Given the description of an element on the screen output the (x, y) to click on. 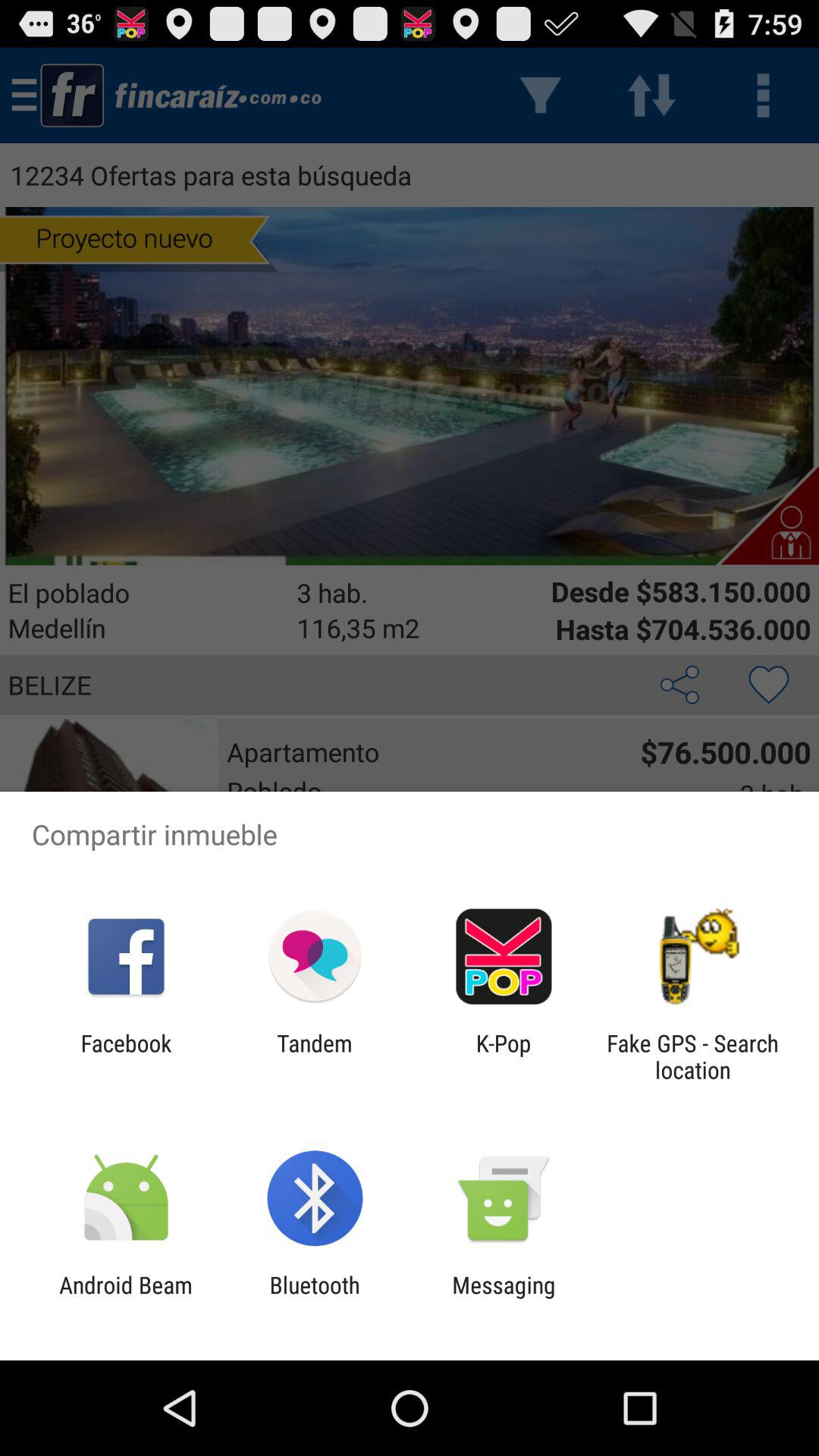
click tandem app (314, 1056)
